Given the description of an element on the screen output the (x, y) to click on. 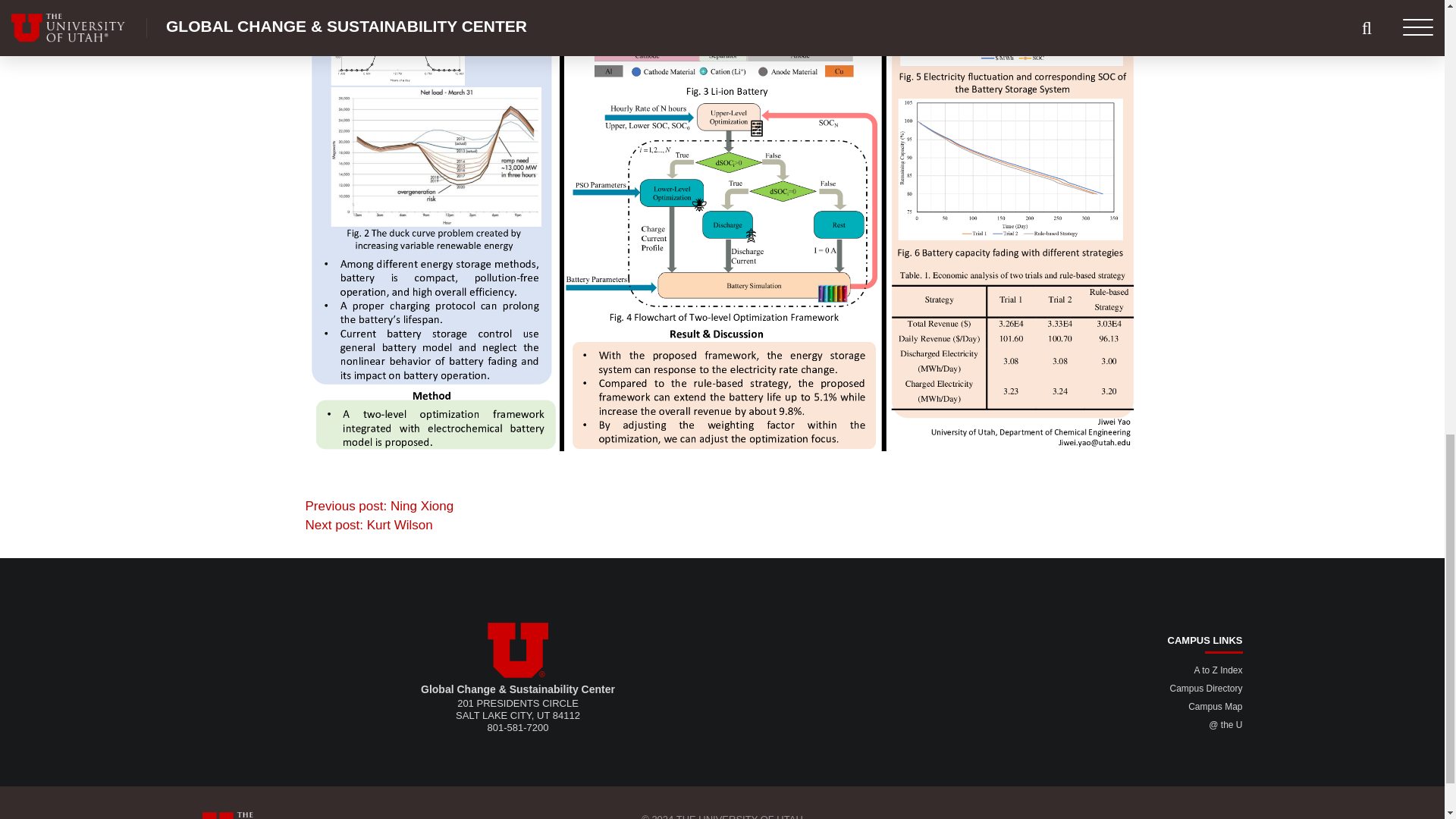
Previous post: Ning Xiong (378, 504)
University of Utah (517, 650)
Next post: Kurt Wilson (368, 524)
